Given the description of an element on the screen output the (x, y) to click on. 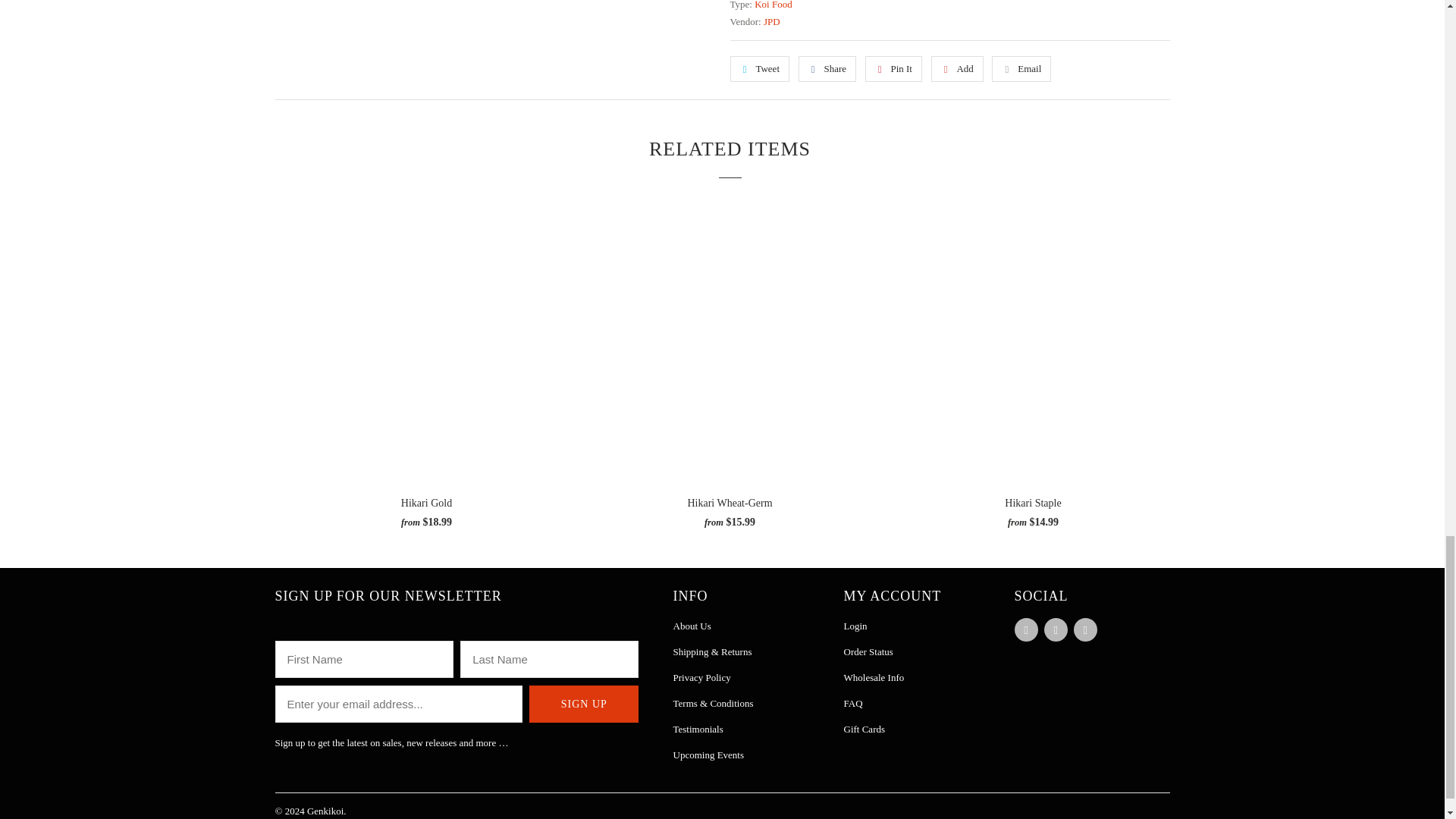
Email this to a friend (1021, 68)
Genkikoi on Instagram (1055, 629)
JPD (771, 21)
Share this on Facebook (826, 68)
Email Genkikoi (1085, 629)
Genkikoi on Facebook (1026, 629)
Share this on Pinterest (892, 68)
Sign Up (584, 703)
Share this on Twitter (759, 68)
Koi Food (773, 4)
